Given the description of an element on the screen output the (x, y) to click on. 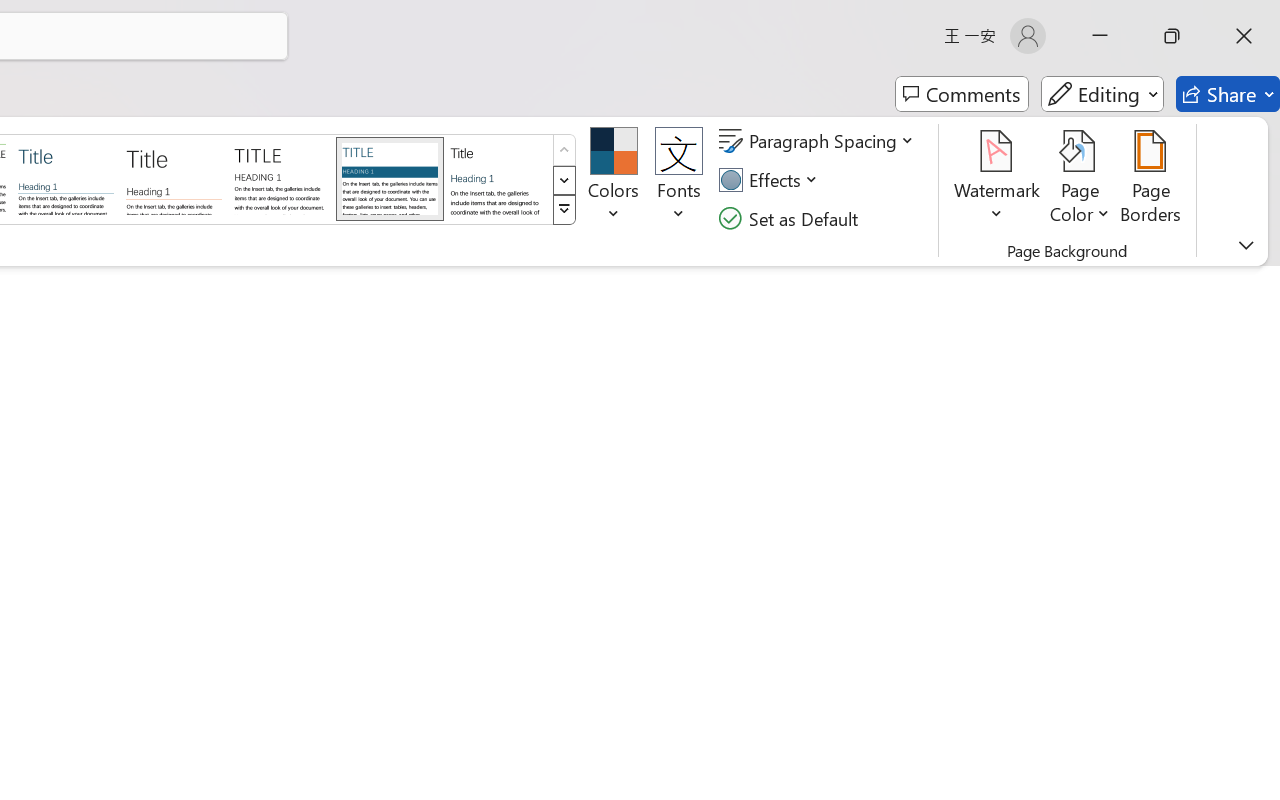
Start a conversation (1085, 330)
Post comment (Ctrl + Enter) (1146, 386)
New comment (967, 244)
